Given the description of an element on the screen output the (x, y) to click on. 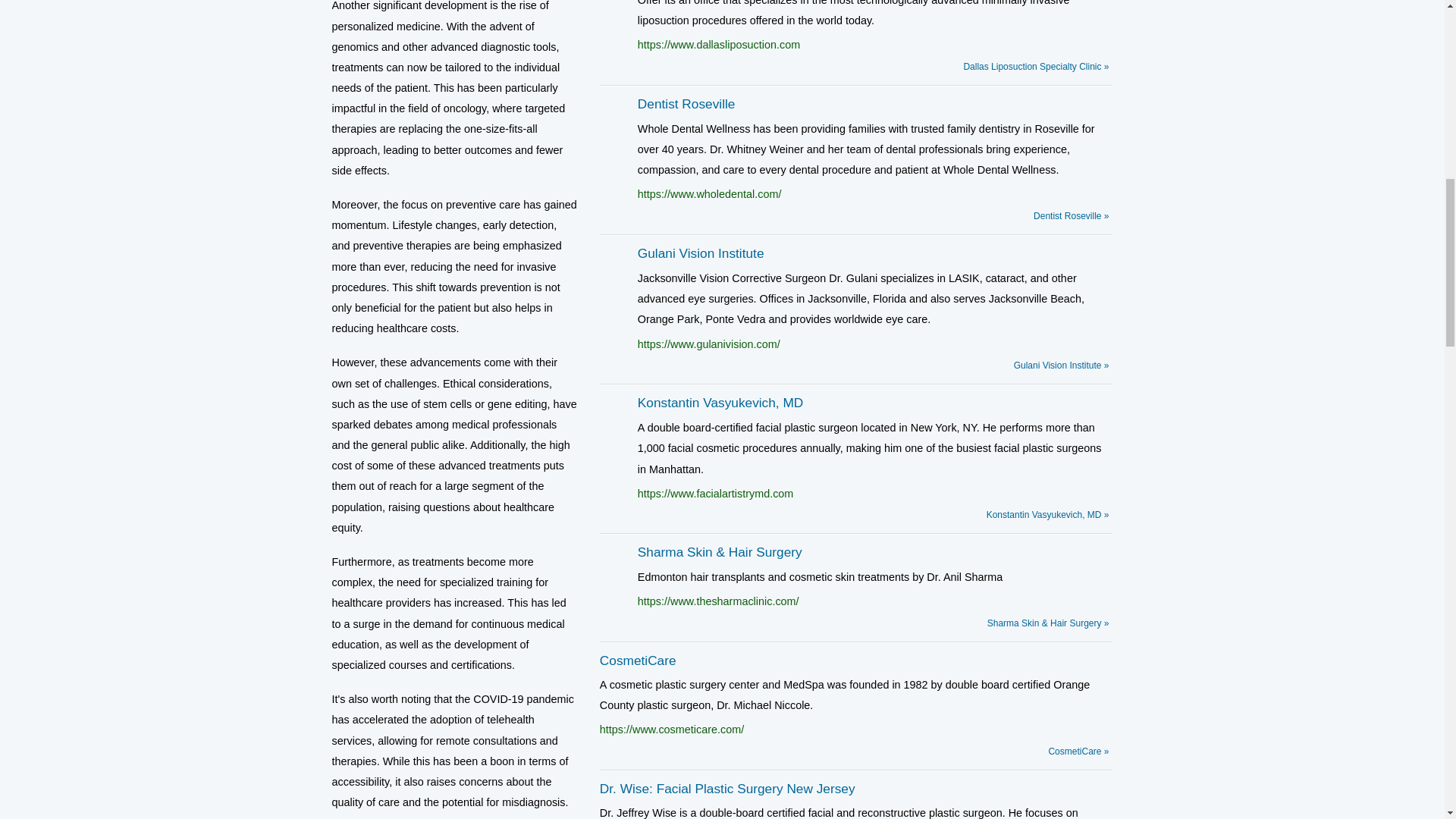
Read more about: CosmetiCare (1078, 751)
Read more about: Dentist Roseville (1070, 215)
Read more about: Dallas Liposuction Specialty Clinic (1035, 65)
Konstantin Vasyukevich, MD (720, 402)
Dentist Roseville (686, 103)
Read more about: Gulani Vision Institute (1061, 365)
Read more about: Konstantin Vasyukevich, MD (1048, 514)
Gulani Vision Institute (700, 253)
